Given the description of an element on the screen output the (x, y) to click on. 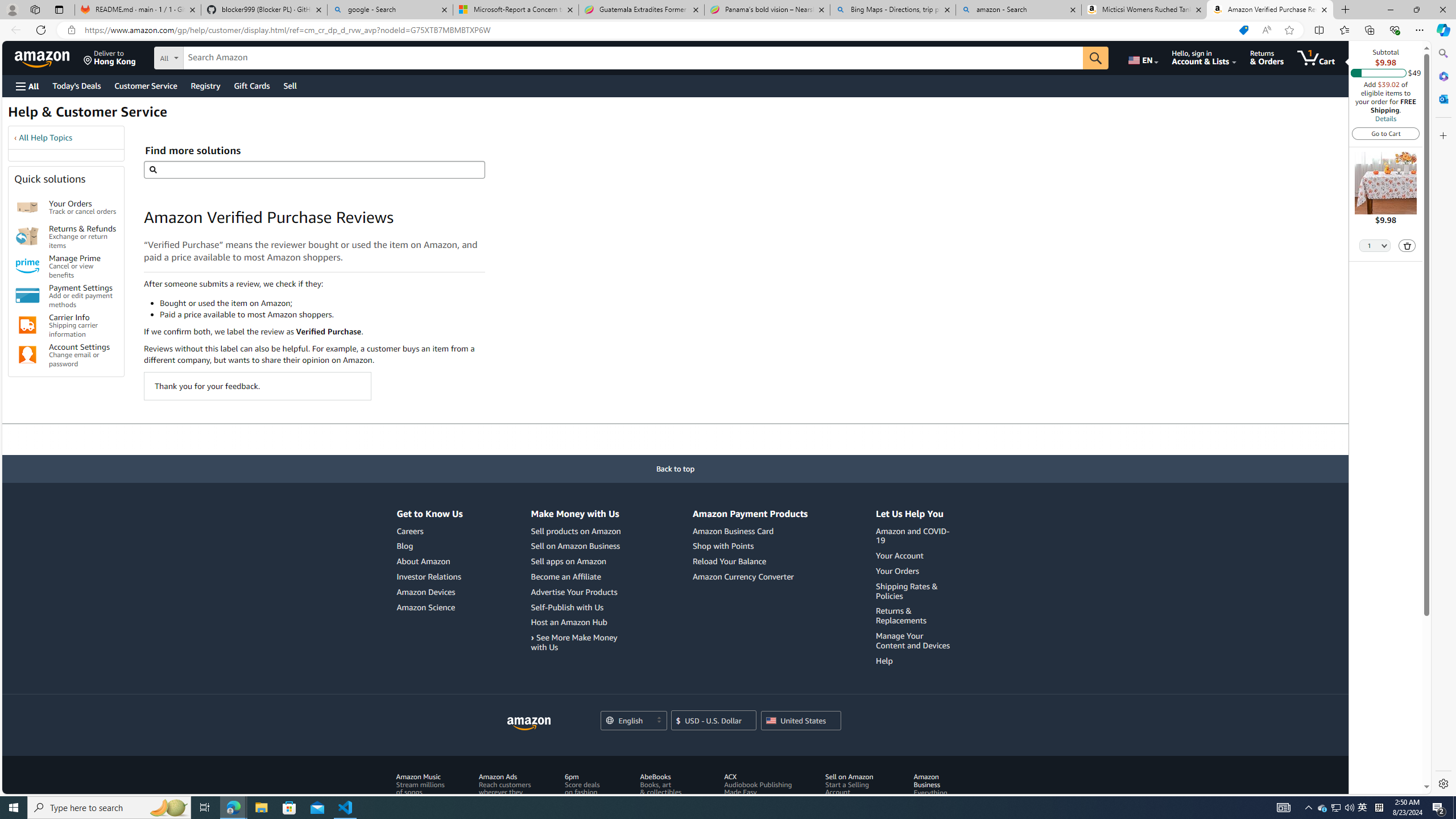
Amazon Devices (429, 592)
Sell on Amazon Business (576, 546)
Amazon Science (429, 606)
Self-Publish with Us (576, 606)
Amazon Verified Purchase Reviews - Amazon Customer Service (1270, 9)
Customer Service (145, 85)
Amazon Science (425, 606)
See More Make Money with Us (576, 642)
Sell apps on Amazon (576, 561)
amazon - Search (1018, 9)
Your Orders (914, 570)
Amazon Business Card (732, 530)
